Given the description of an element on the screen output the (x, y) to click on. 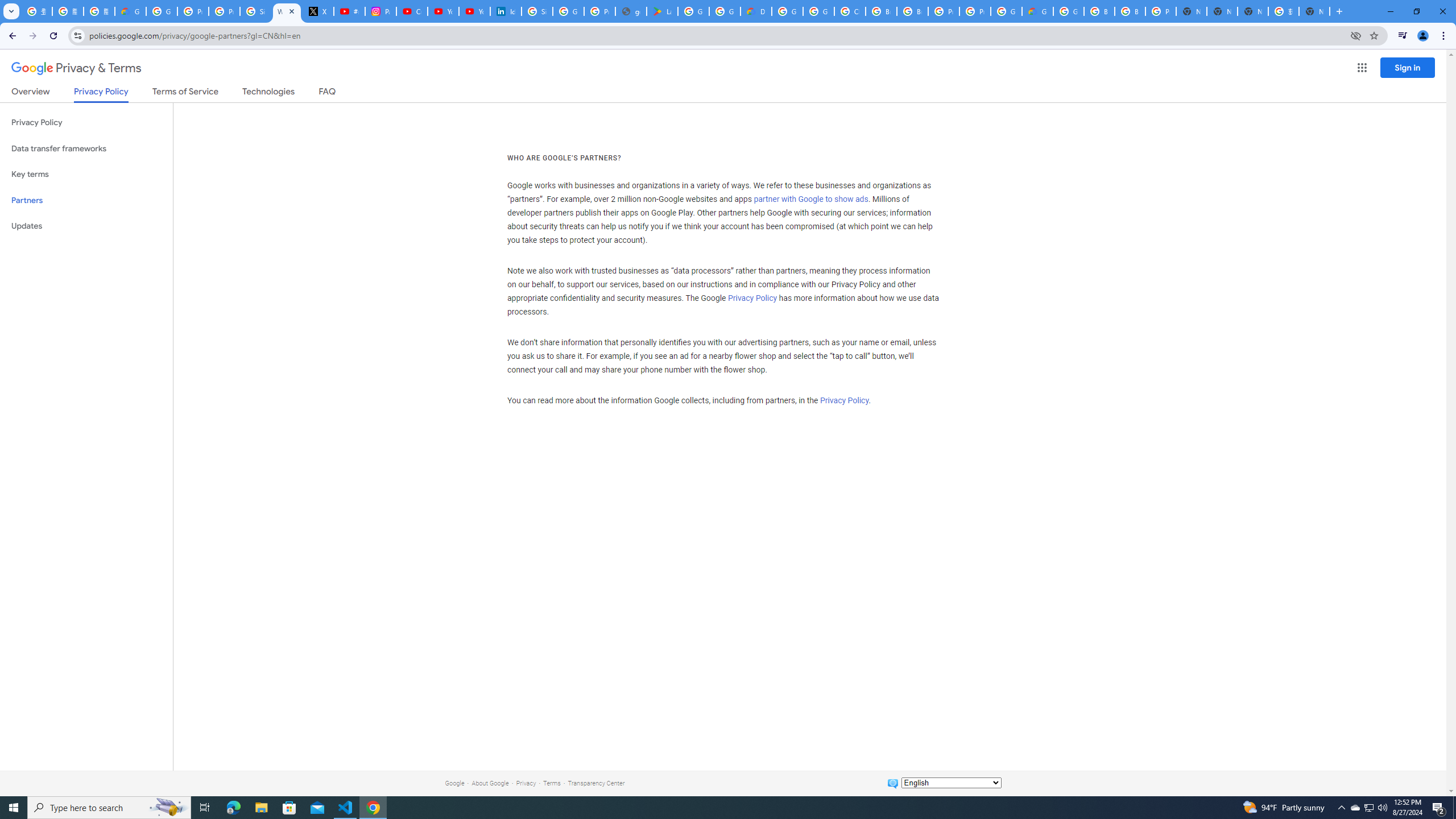
Google Cloud Estimate Summary (1037, 11)
Privacy Help Center - Policies Help (192, 11)
partner with Google to show ads (810, 199)
